Given the description of an element on the screen output the (x, y) to click on. 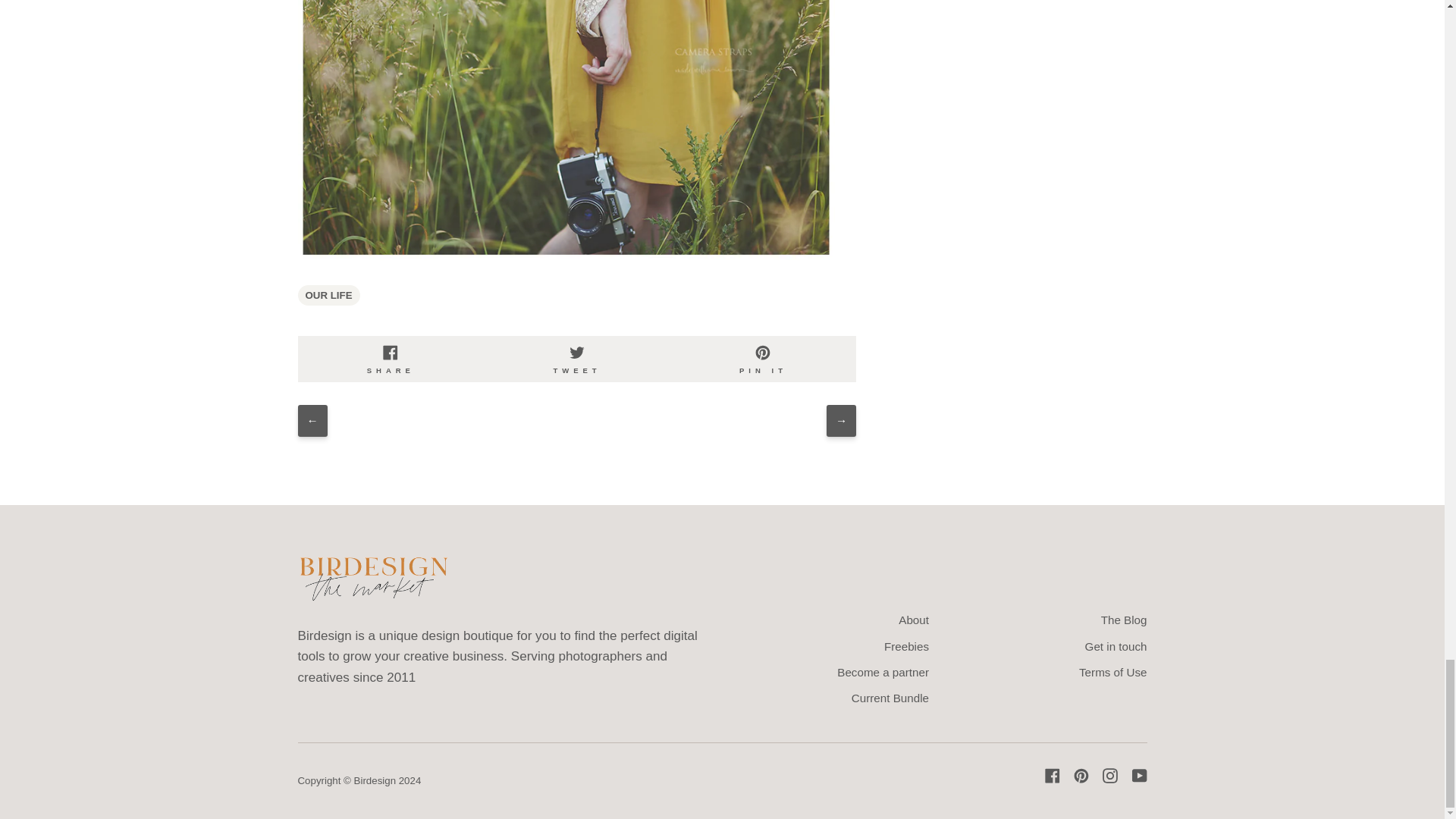
Birdesign on Facebook (1052, 774)
Birdesign on Pinterest (1081, 774)
Birdesign on Instagram (1110, 774)
Birdesign on YouTube (1139, 774)
